Given the description of an element on the screen output the (x, y) to click on. 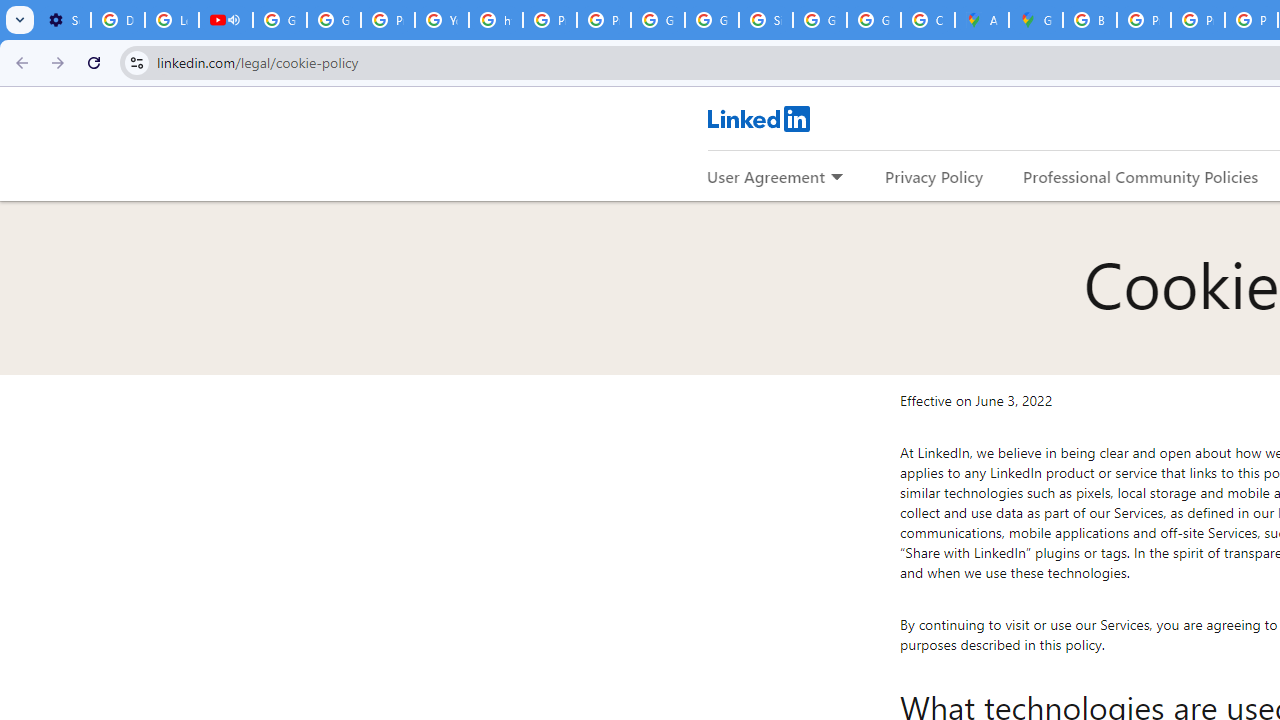
Google Maps (1035, 20)
Create your Google Account (927, 20)
Settings - Customize profile (63, 20)
